Given the description of an element on the screen output the (x, y) to click on. 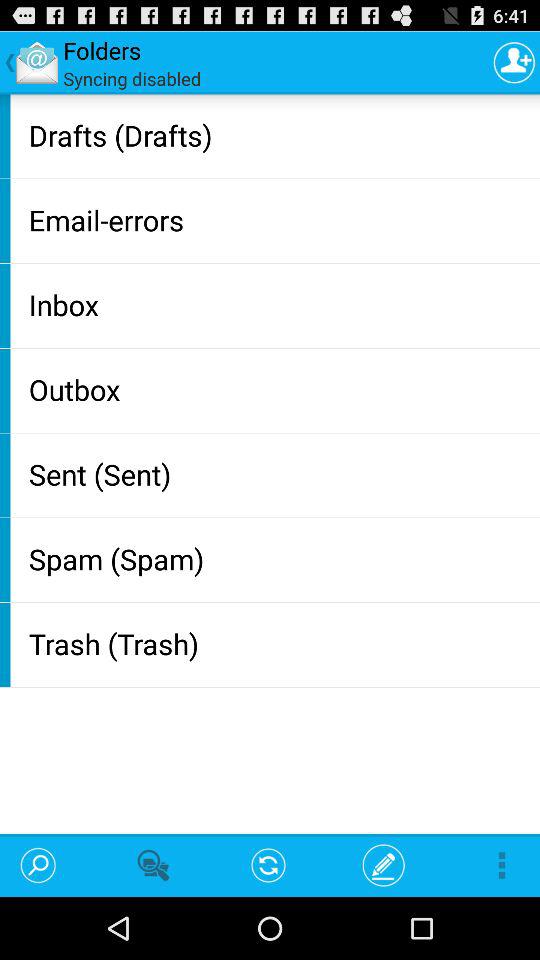
swipe until the sent (sent) (280, 473)
